Given the description of an element on the screen output the (x, y) to click on. 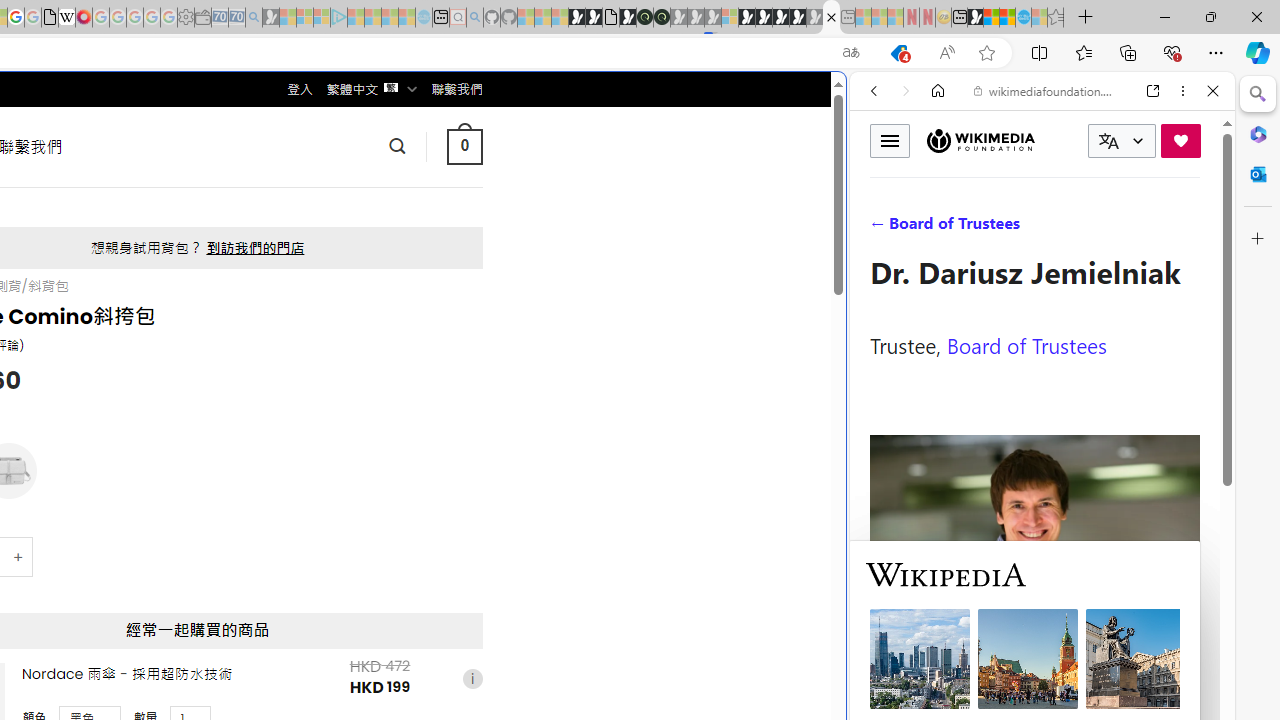
Services - Maintenance | Sky Blue Bikes - Sky Blue Bikes (1023, 17)
Tabs you've opened (276, 265)
Favorites - Sleeping (1055, 17)
MediaWiki (83, 17)
